Given the description of an element on the screen output the (x, y) to click on. 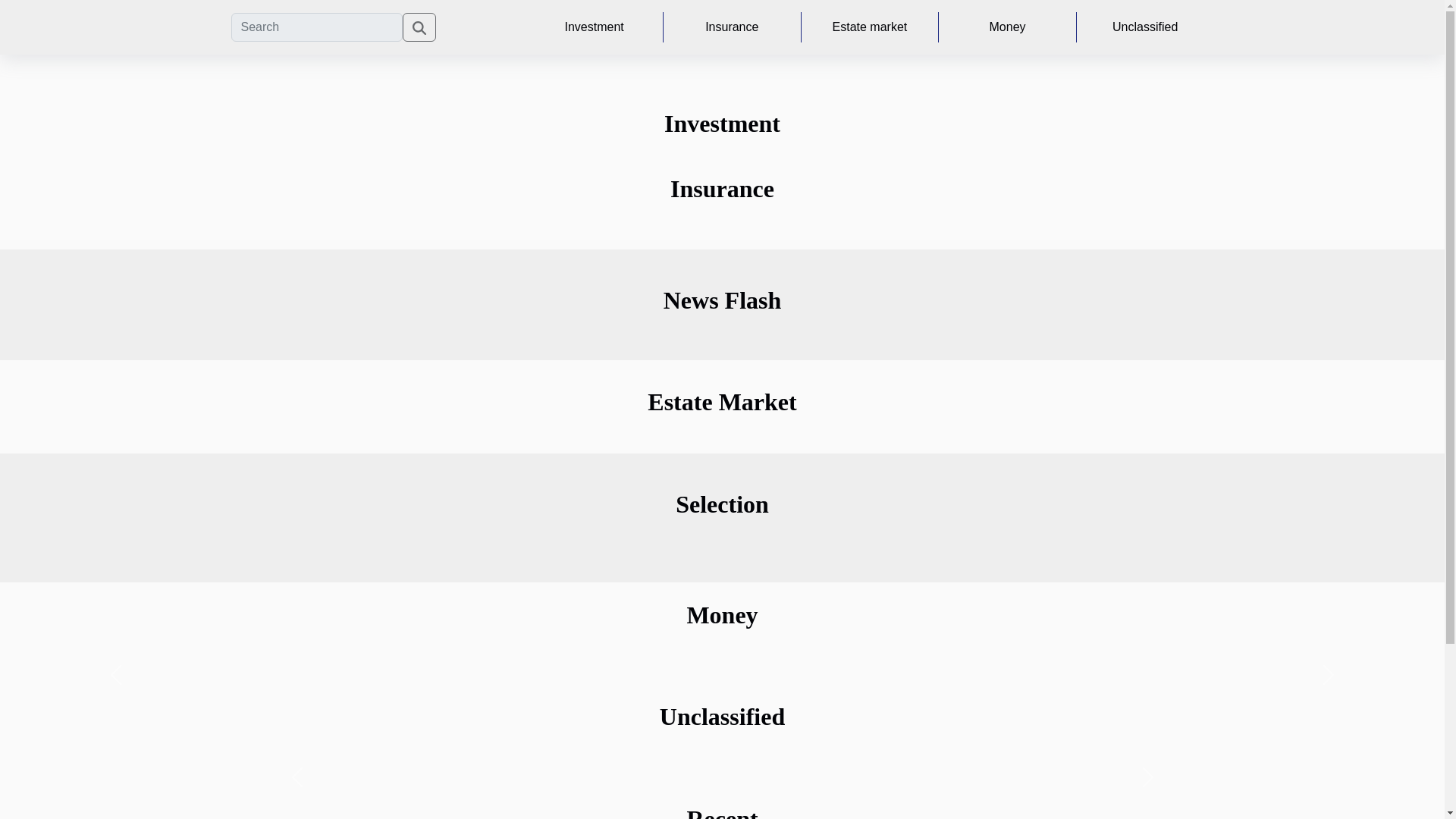
Money (1007, 27)
Insurance (732, 27)
Unclassified (1145, 27)
Investment (593, 27)
Estate market (870, 27)
